Given the description of an element on the screen output the (x, y) to click on. 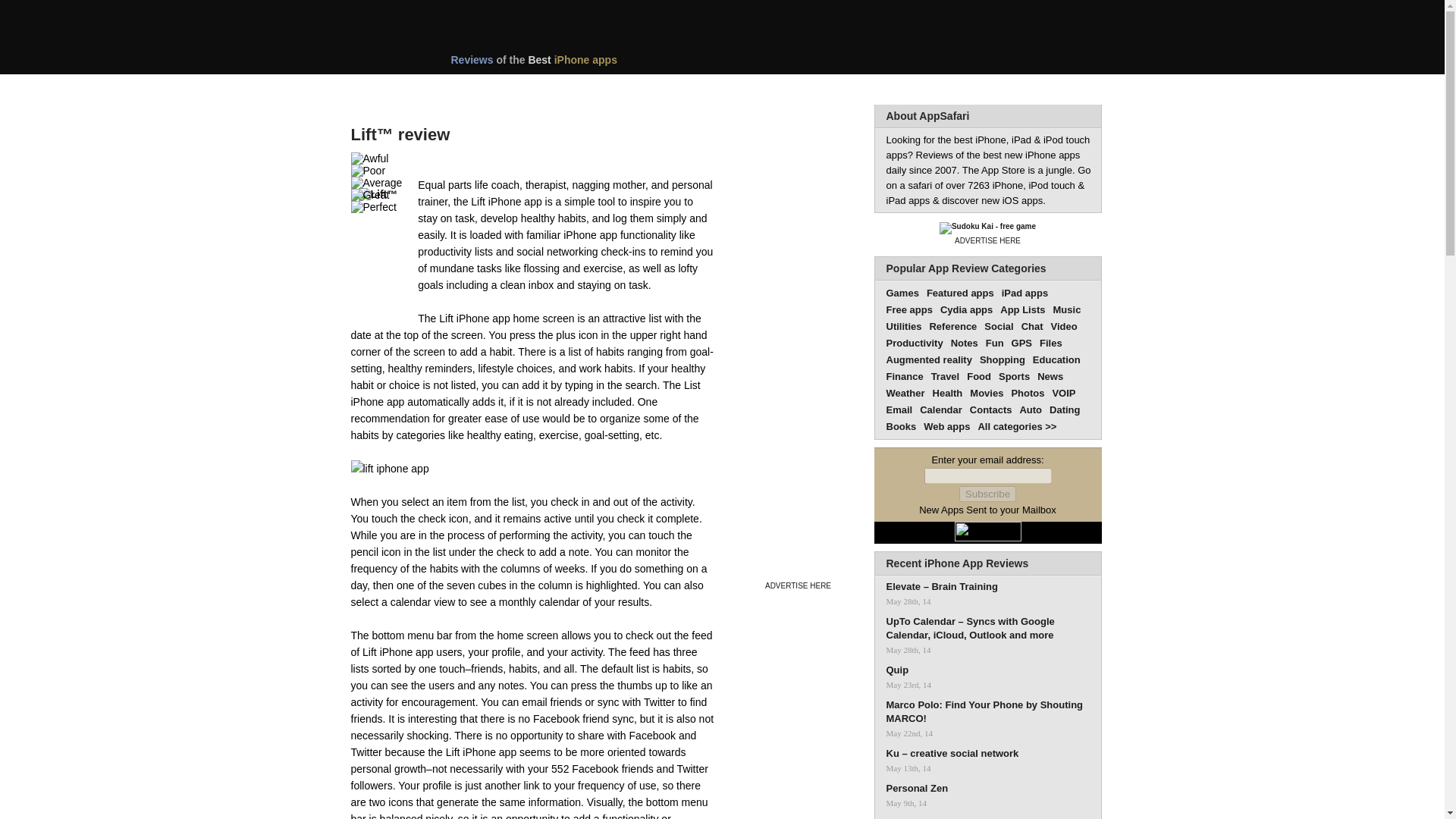
Help with using iPhone Apps (858, 89)
Daily iPhone App Giveaway (703, 89)
About AppSafari (927, 115)
Tweet (571, 156)
Average (375, 182)
New App Reviews (394, 89)
App Giveaway (703, 89)
Help (858, 89)
Read and Write Reviews (438, 159)
Awful (369, 158)
